Given the description of an element on the screen output the (x, y) to click on. 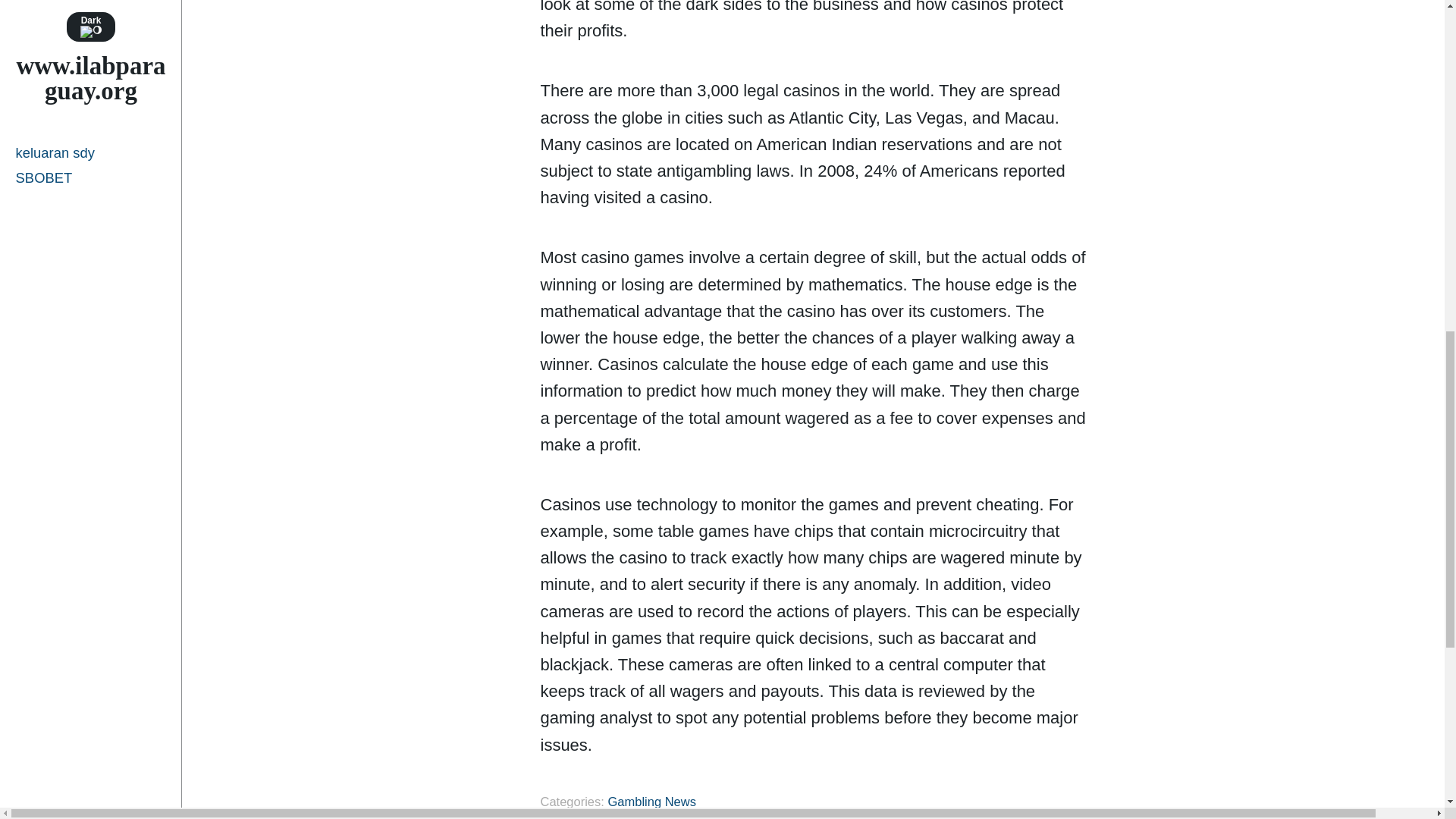
Gambling News (651, 801)
